Given the description of an element on the screen output the (x, y) to click on. 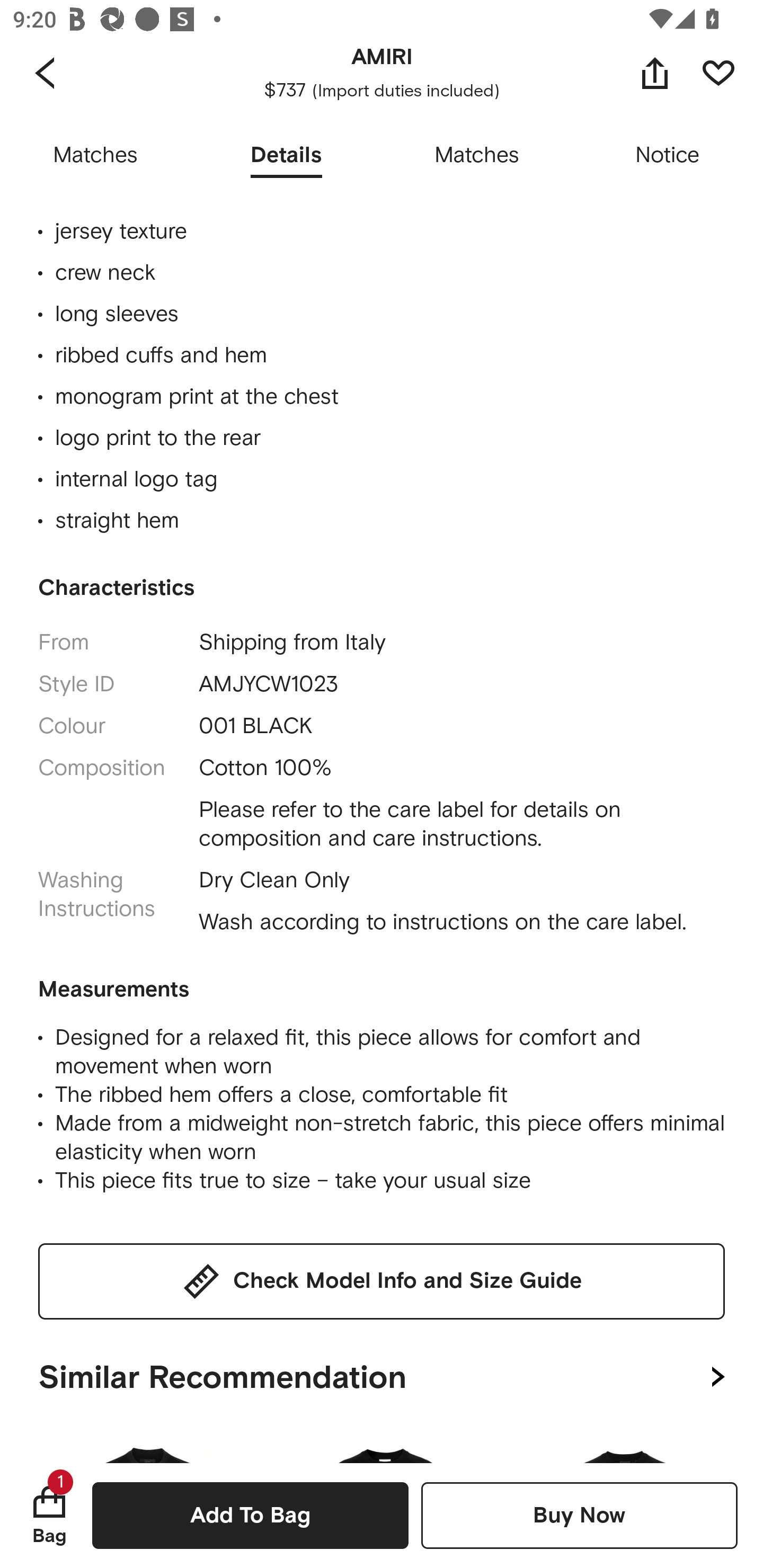
Matches (95, 155)
Matches (476, 155)
Notice (667, 155)
 Check Model Info and Size Guide (381, 1281)
Similar Recommendation (381, 1373)
Bag 1 (49, 1515)
Add To Bag (250, 1515)
Buy Now (579, 1515)
